Given the description of an element on the screen output the (x, y) to click on. 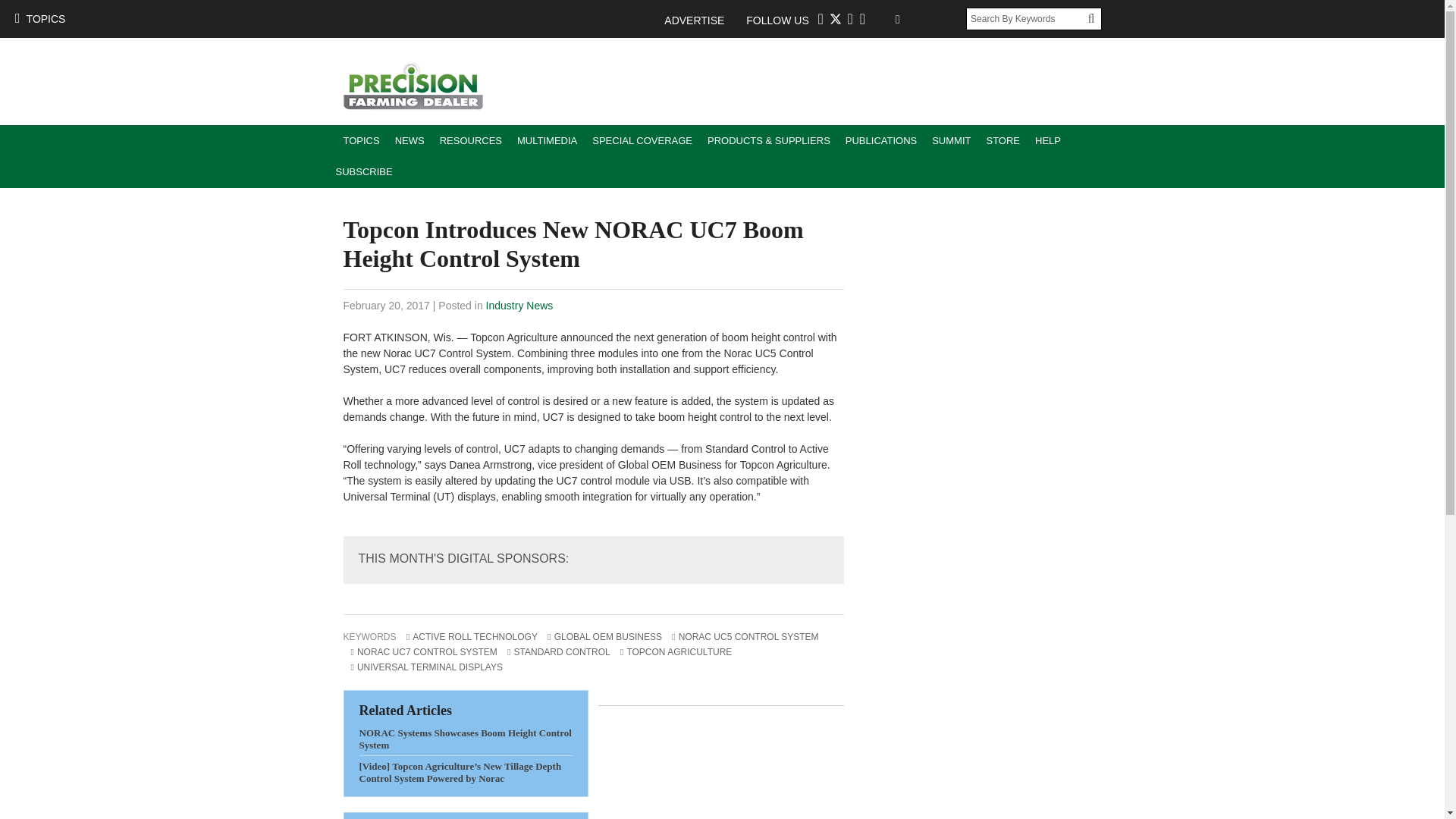
TOPICS (39, 18)
ADVERTISE (701, 20)
Search By Keywords (1026, 18)
Search By Keywords (1026, 18)
NEWS (409, 140)
TOPICS (360, 140)
